Given the description of an element on the screen output the (x, y) to click on. 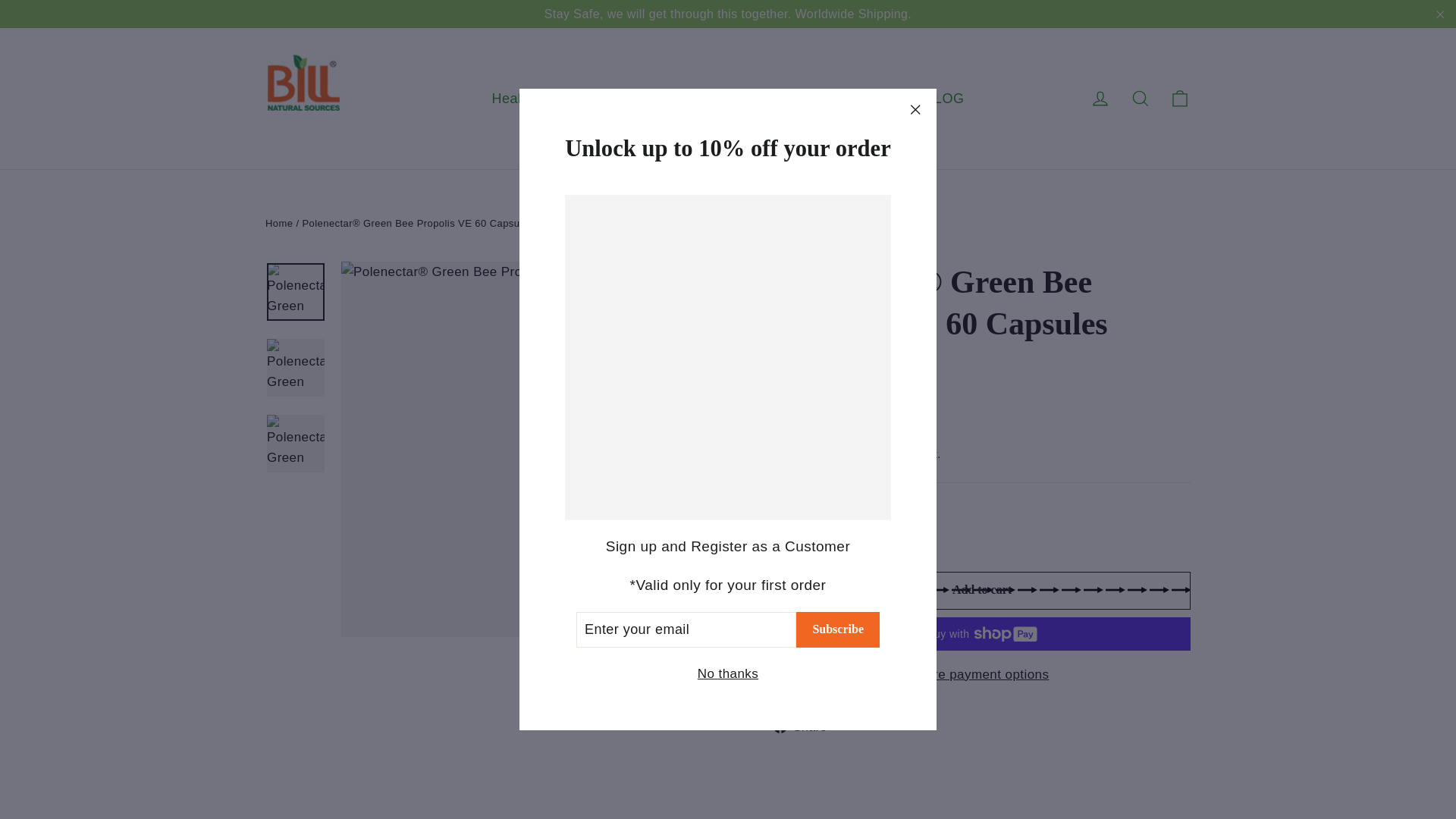
Share on Facebook (805, 726)
Back to the frontpage (278, 223)
1 (803, 537)
